Given the description of an element on the screen output the (x, y) to click on. 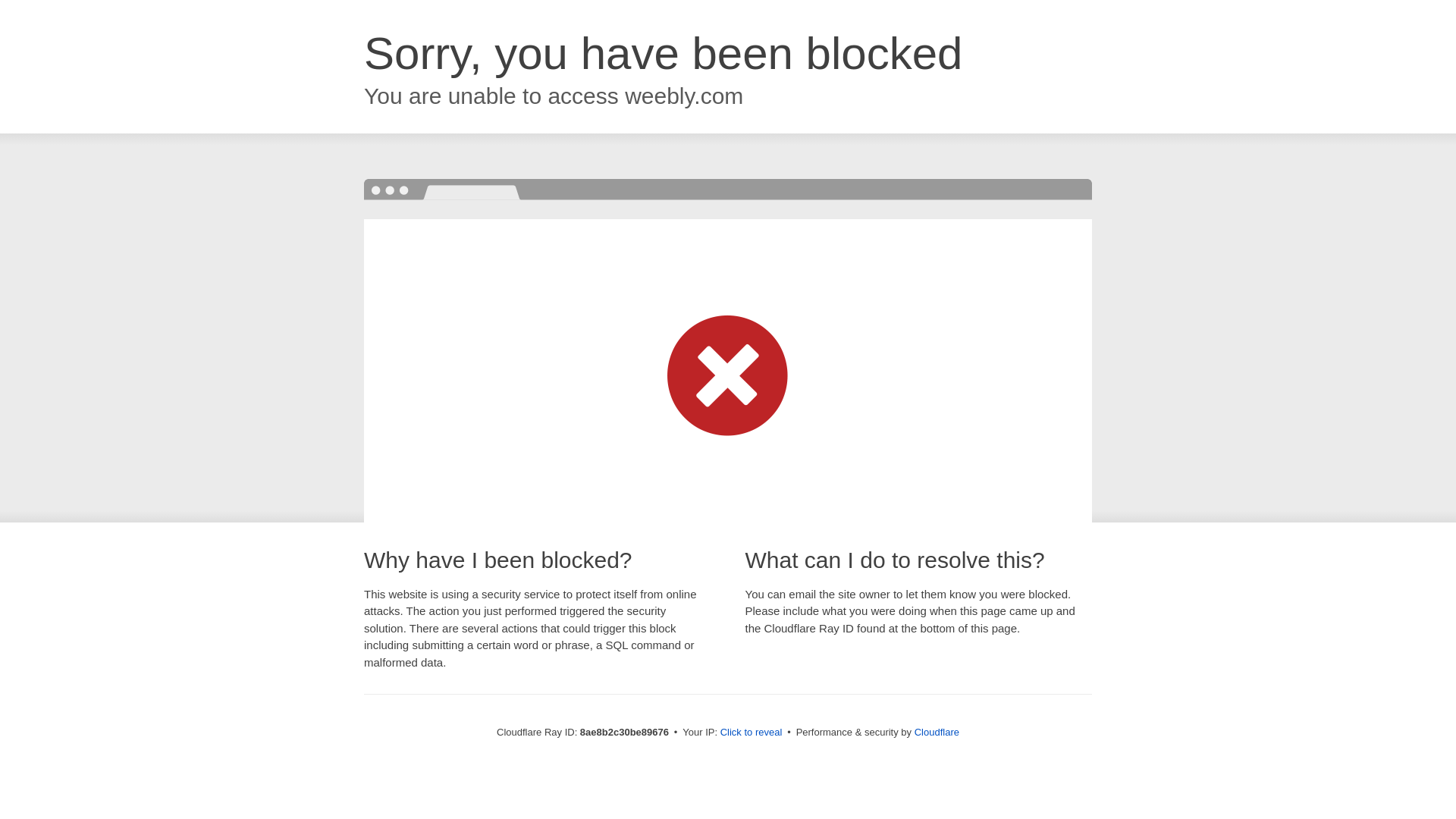
Click to reveal (751, 732)
Cloudflare (936, 731)
